Given the description of an element on the screen output the (x, y) to click on. 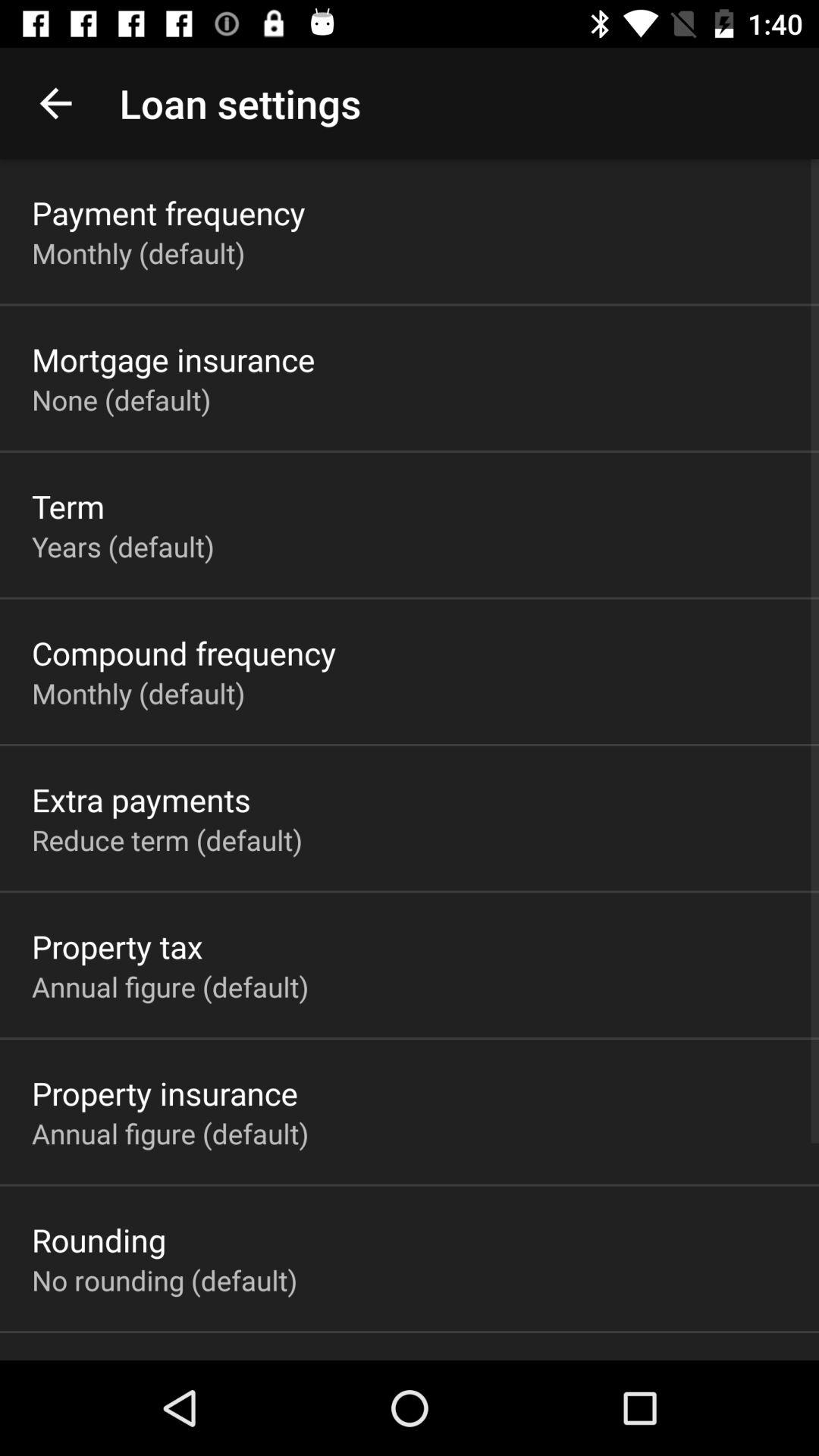
jump to no rounding (default) icon (164, 1280)
